Given the description of an element on the screen output the (x, y) to click on. 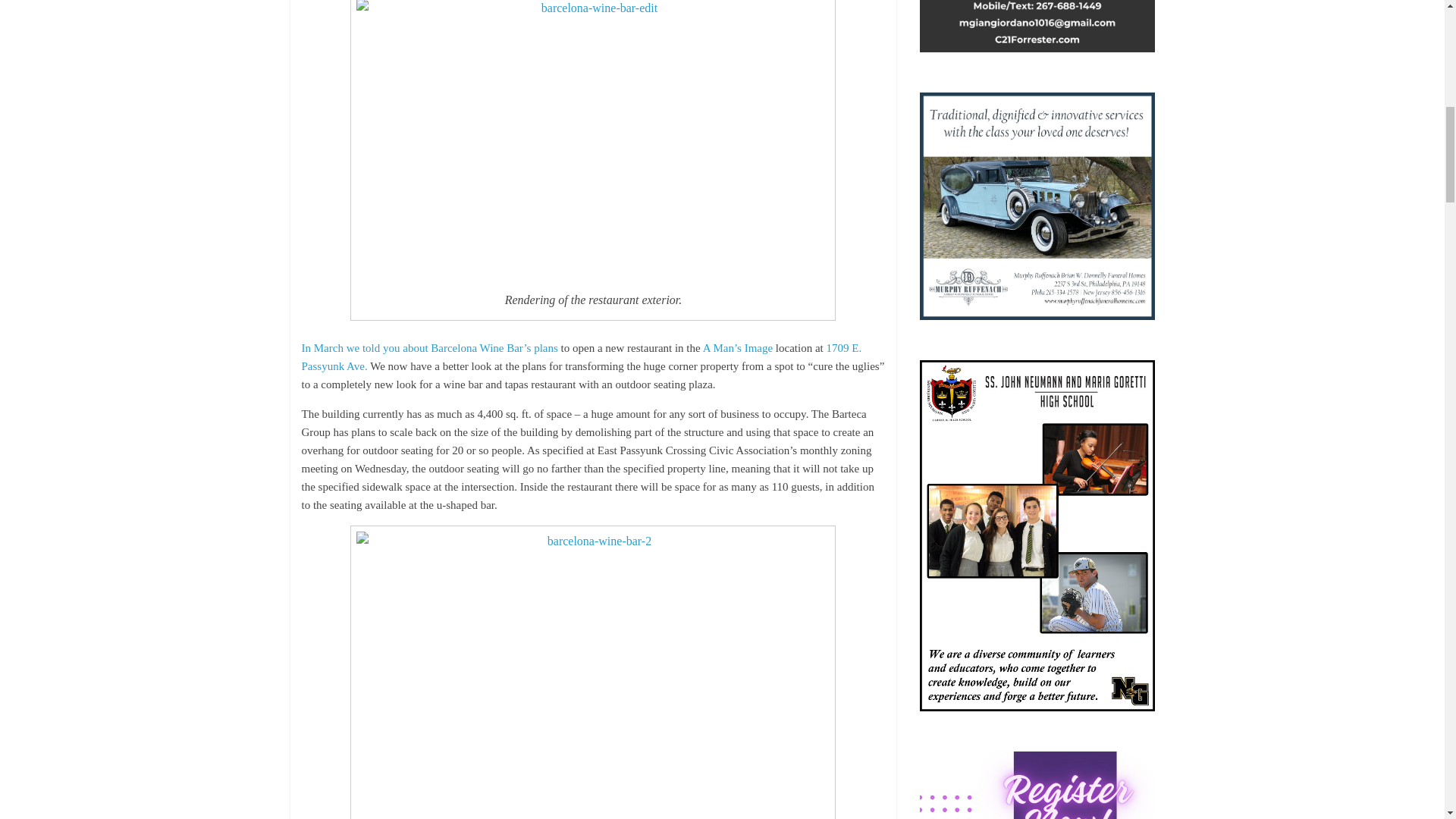
1709 E. Passyunk Ave. (581, 357)
